Given the description of an element on the screen output the (x, y) to click on. 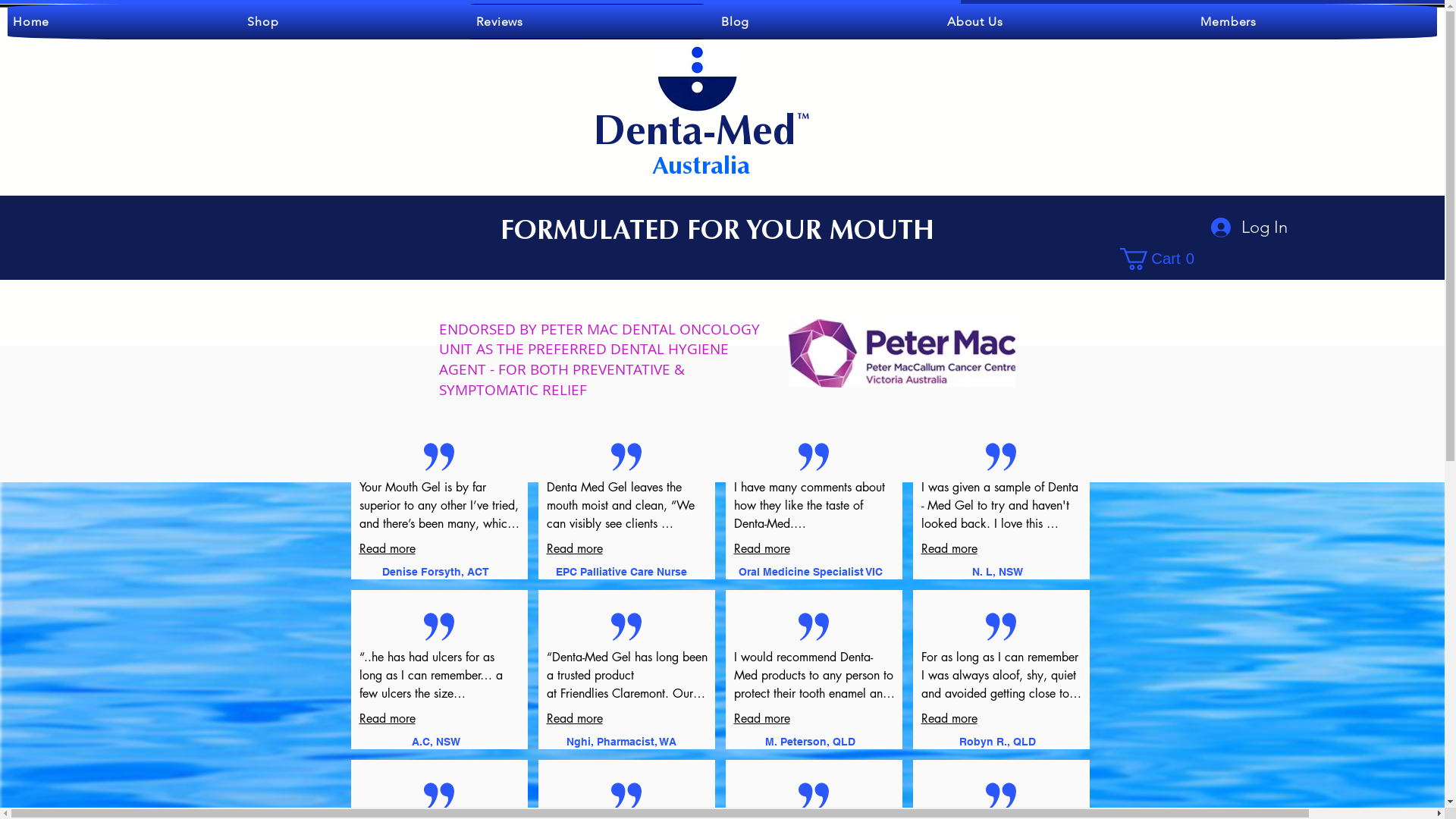
Home Element type: text (118, 21)
Read more Element type: text (387, 548)
Members Element type: text (1316, 21)
Denta-Med Blue_edited_edited.jpg Element type: hover (697, 77)
Shop Element type: text (349, 21)
Read more Element type: text (948, 548)
Read more Element type: text (762, 548)
Blog Element type: text (822, 21)
Cart
0 Element type: text (1160, 258)
Peter Mac logo.jpg Element type: hover (901, 353)
TM (1).png Element type: hover (806, 112)
Read more Element type: text (387, 718)
Read more Element type: text (574, 718)
Log In Element type: text (1248, 227)
About Us Element type: text (1062, 21)
Read more Element type: text (574, 548)
Reviews Element type: text (586, 21)
Read more Element type: text (762, 718)
Read more Element type: text (948, 718)
